Given the description of an element on the screen output the (x, y) to click on. 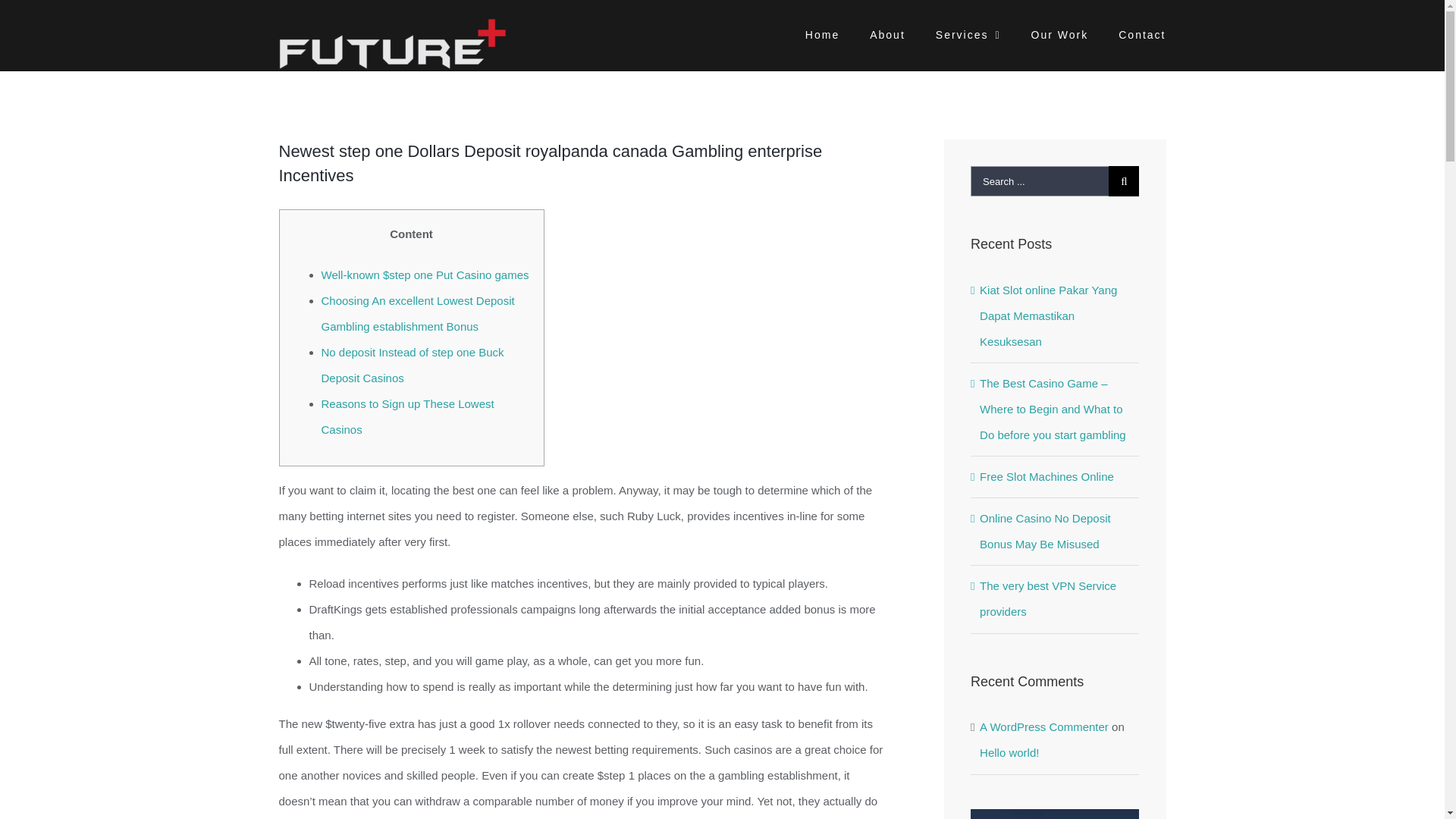
No deposit Instead of step one Buck Deposit Casinos (412, 364)
Our Work (1059, 33)
Contact (1142, 33)
Home (822, 33)
Reasons to Sign up These Lowest Casinos (408, 416)
Services (968, 33)
About (887, 33)
